Given the description of an element on the screen output the (x, y) to click on. 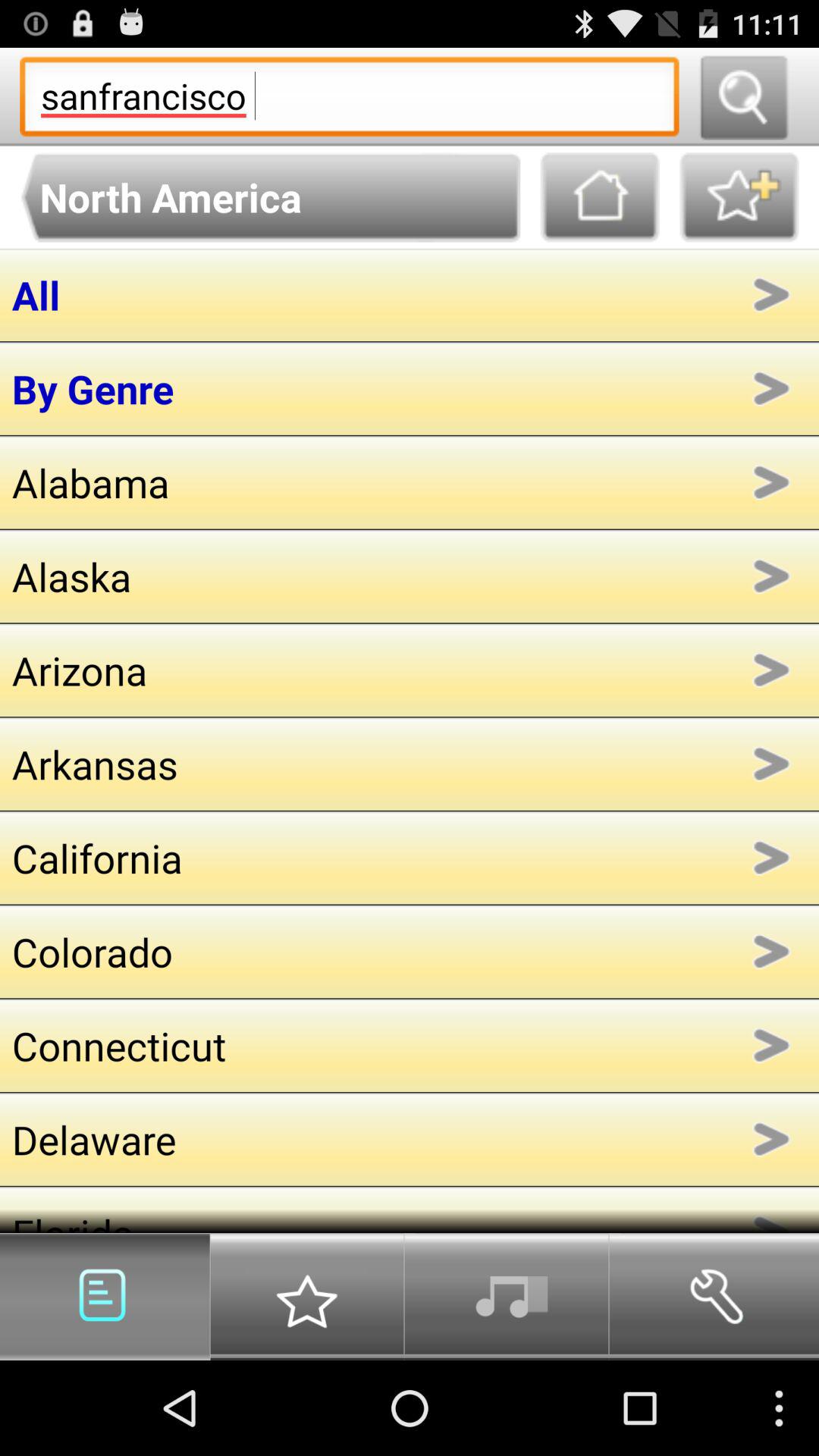
favorite button (739, 197)
